Given the description of an element on the screen output the (x, y) to click on. 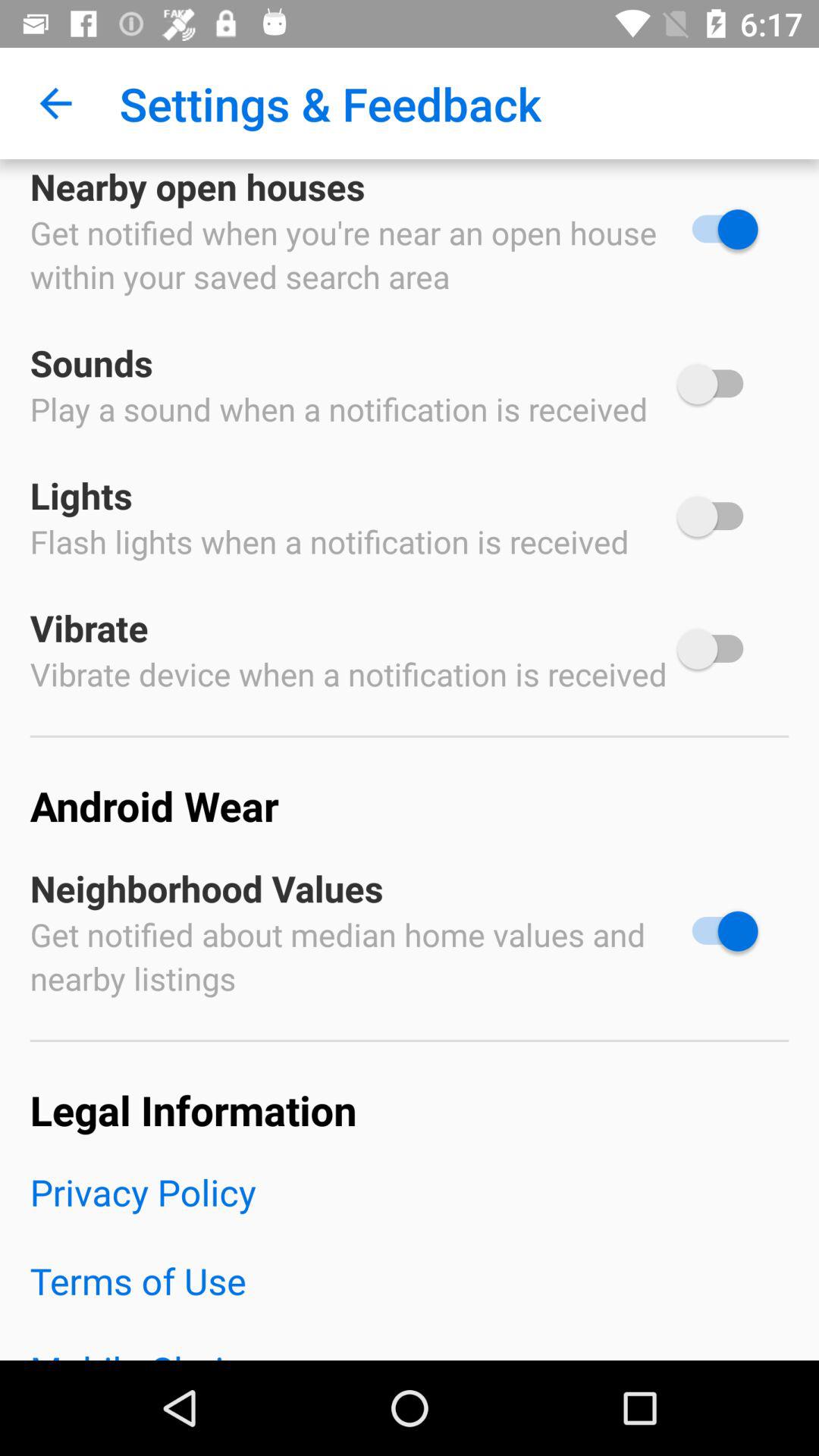
click privacy policy (409, 1211)
